Given the description of an element on the screen output the (x, y) to click on. 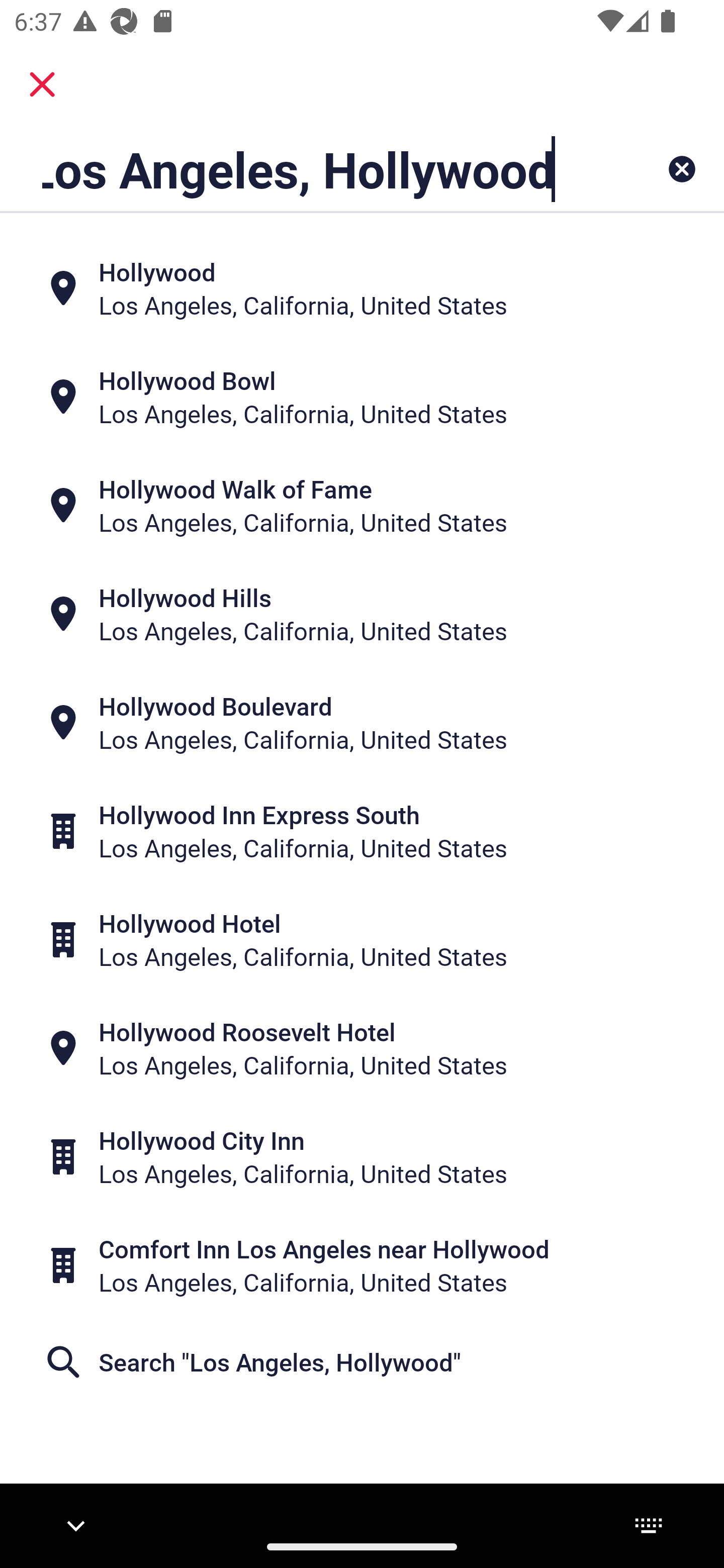
close. (42, 84)
Clear (681, 169)
Los Angeles, Hollywood (298, 169)
Hollywood Los Angeles, California, United States (362, 288)
Search "Los Angeles, Hollywood" (362, 1362)
